Given the description of an element on the screen output the (x, y) to click on. 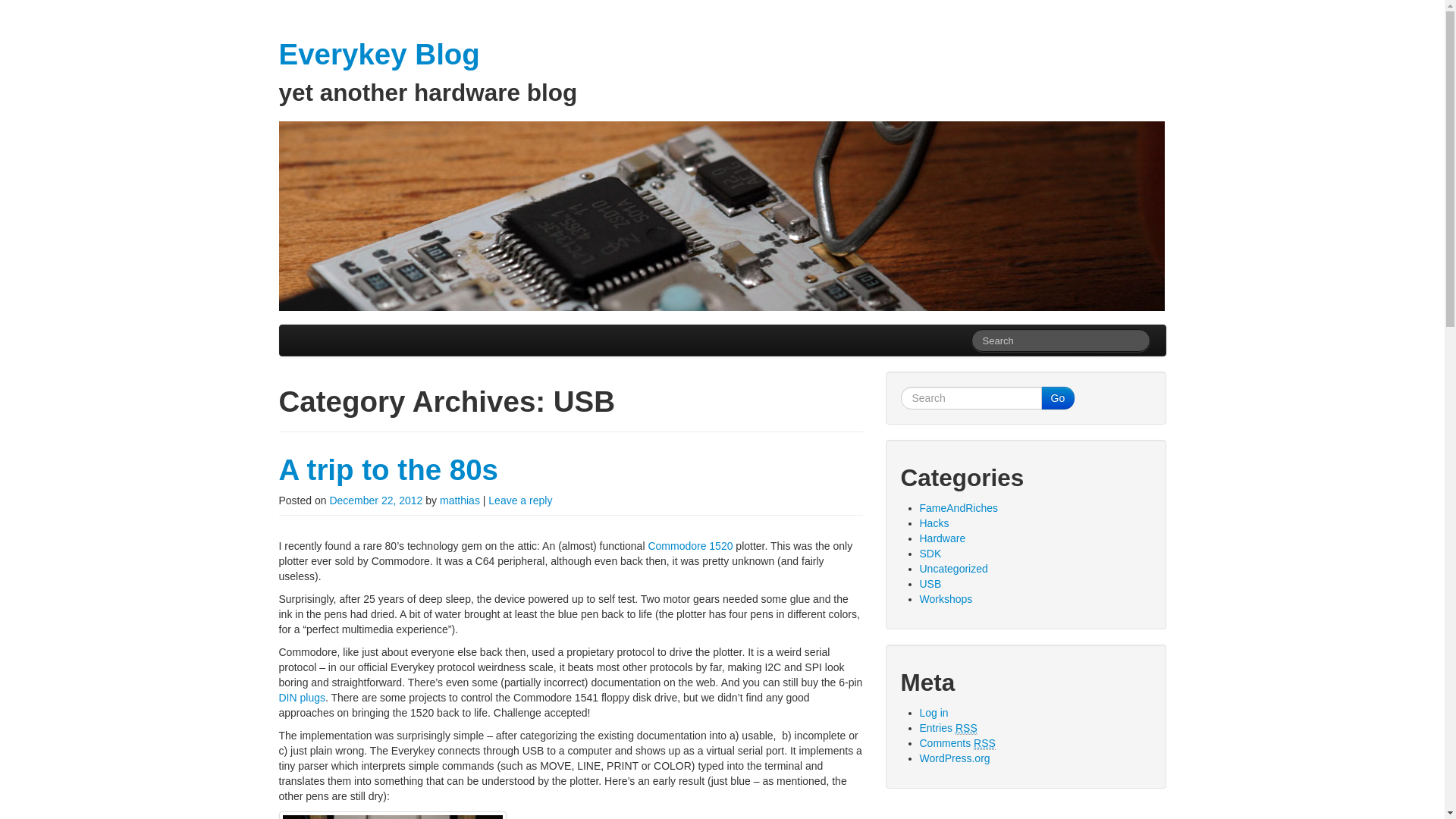
Hacks (933, 522)
Skip to primary content (333, 331)
Entries RSS (947, 727)
December 22, 2012 (375, 500)
Go (1057, 397)
View all posts by matthias (459, 500)
Everykey Blog (379, 53)
FameAndRiches (957, 508)
Skip to primary content (333, 331)
Workshops (945, 598)
